Given the description of an element on the screen output the (x, y) to click on. 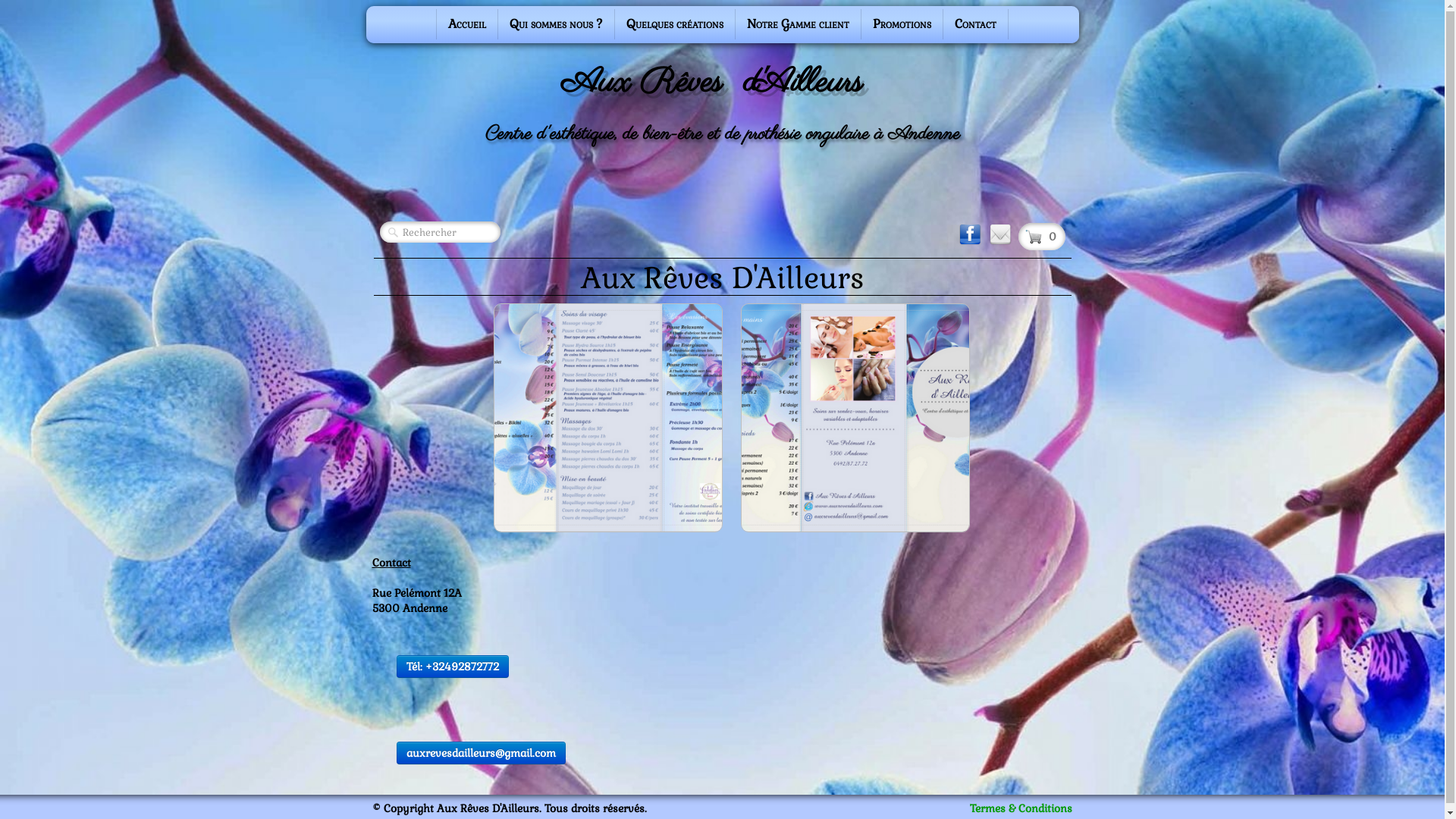
Accueil Element type: text (466, 24)
Termes & Conditions Element type: text (1020, 808)
Notre Gamme client Element type: text (797, 24)
Qui sommes nous ? Element type: text (556, 24)
Contact Element type: text (975, 24)
0 Element type: text (1040, 236)
Promotions Element type: text (901, 24)
auxrevesdailleurs@gmail.com Element type: text (479, 752)
